Given the description of an element on the screen output the (x, y) to click on. 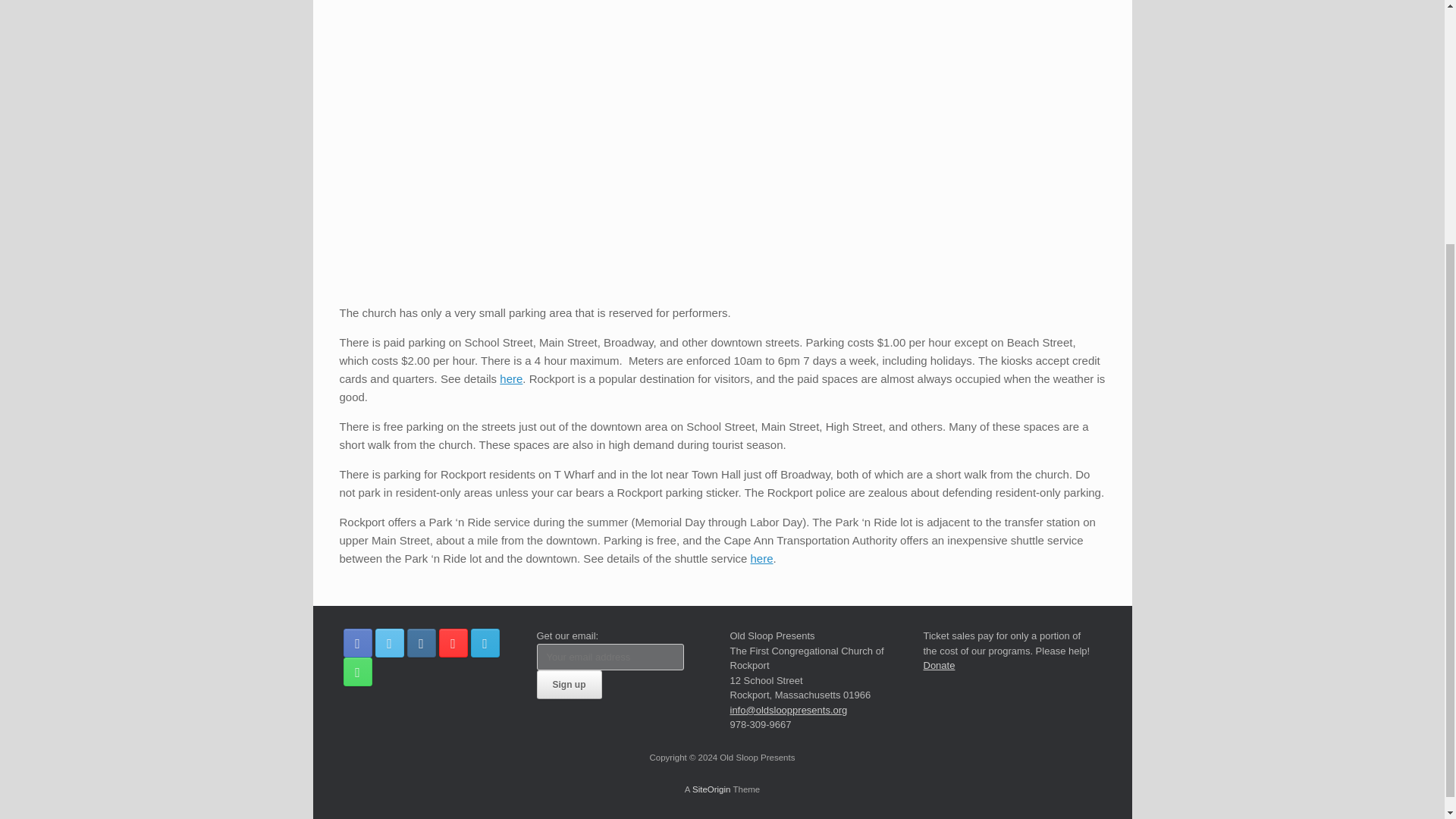
Old Sloop Presents Phone (356, 671)
here (762, 558)
Old Sloop Presents Instagram (420, 642)
Old Sloop Presents YouTube (452, 642)
Old Sloop Presents Facebook (356, 642)
Donate (939, 665)
Old Sloop Presents Email (484, 642)
Sign up (569, 684)
SiteOrigin (711, 788)
Sign up (569, 684)
here (510, 378)
